Given the description of an element on the screen output the (x, y) to click on. 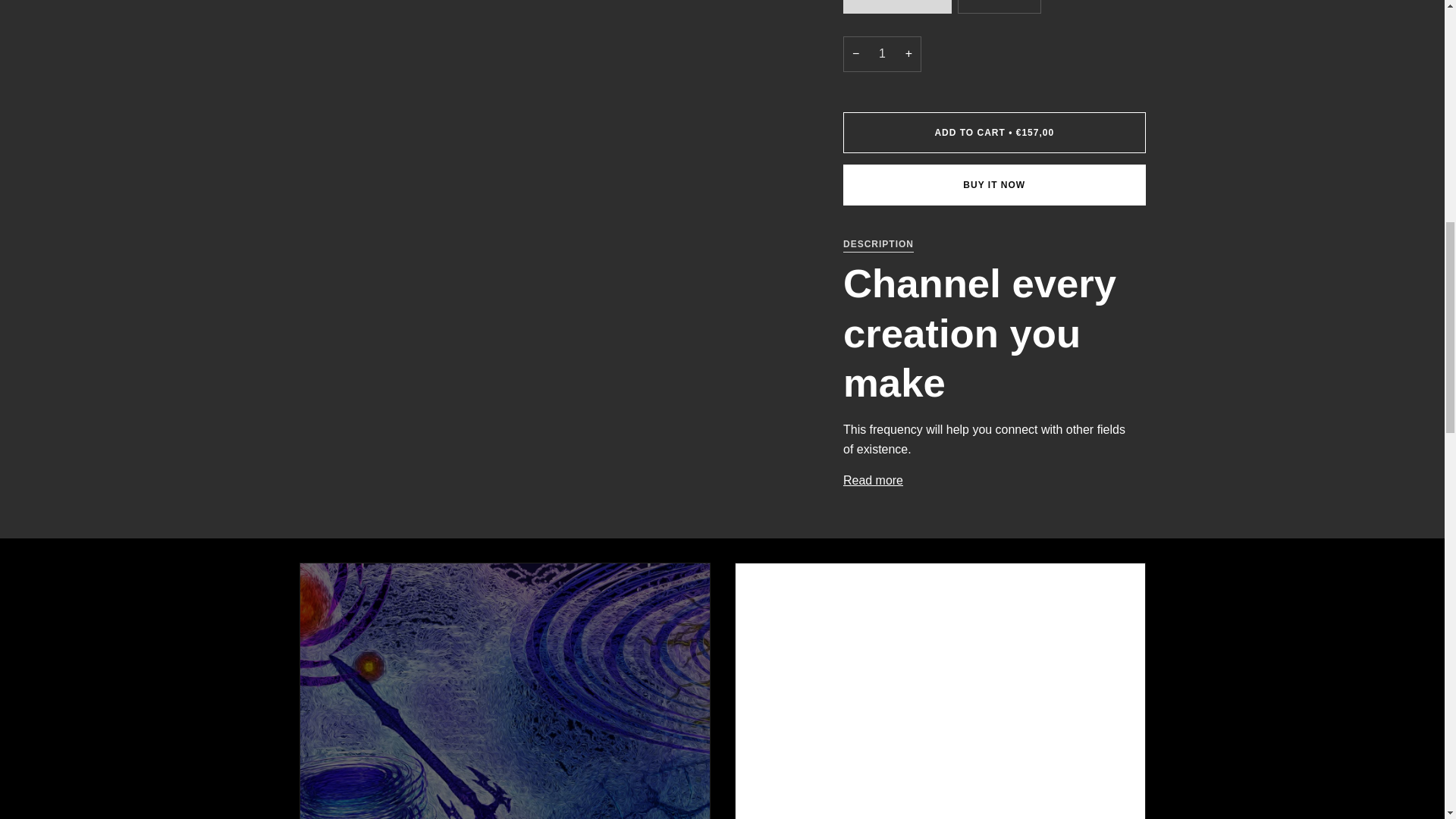
1 (882, 54)
